Given the description of an element on the screen output the (x, y) to click on. 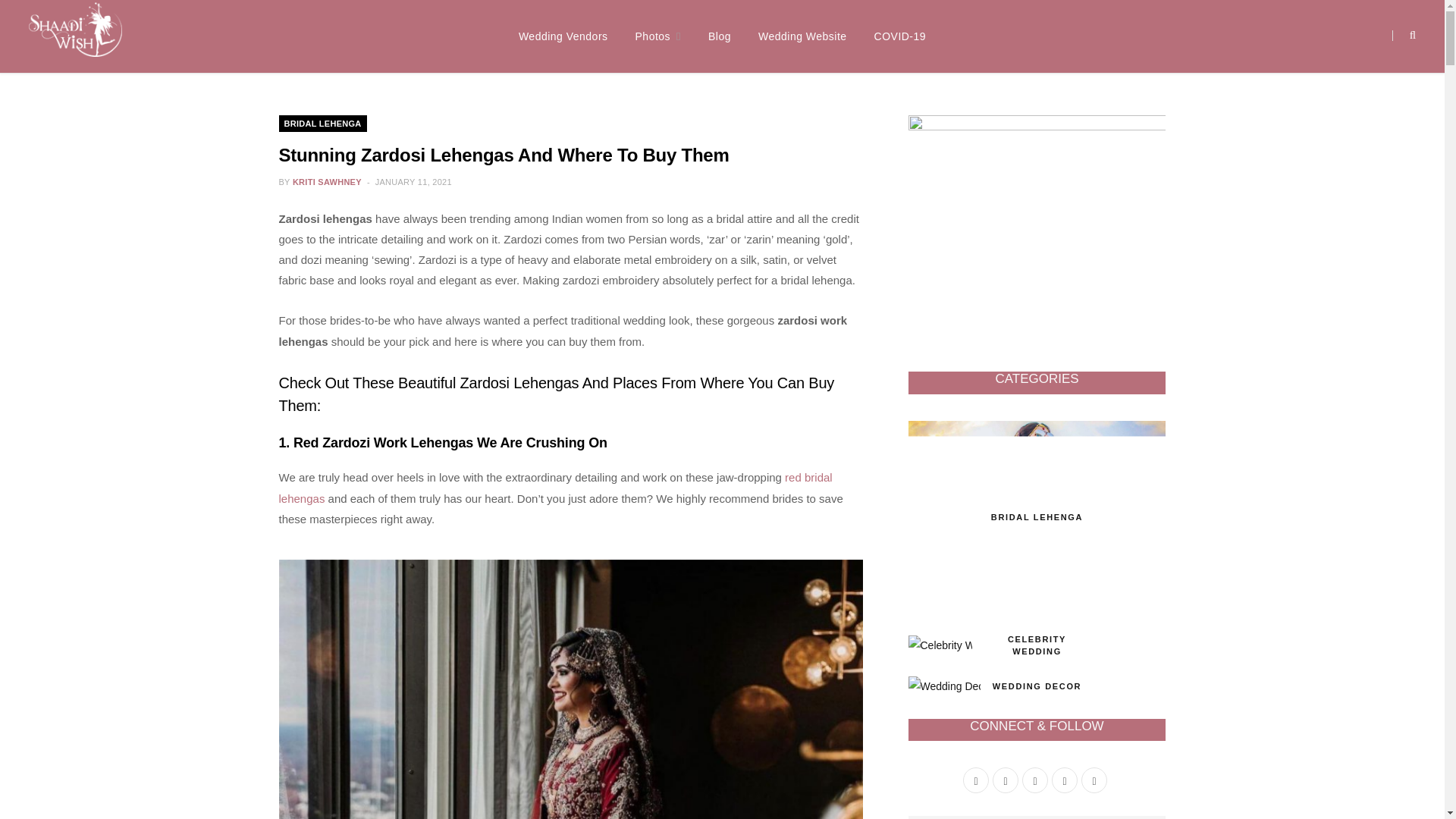
red bridal lehengas (555, 487)
KRITI SAWHNEY (326, 181)
BRIDAL LEHENGA (322, 123)
Photos (658, 36)
Wedding Website (802, 36)
Posts by Kriti Sawhney (326, 181)
Wedding Vendors (563, 36)
ShaadiWish (75, 36)
JANUARY 11, 2021 (413, 181)
COVID-19 (900, 36)
